Given the description of an element on the screen output the (x, y) to click on. 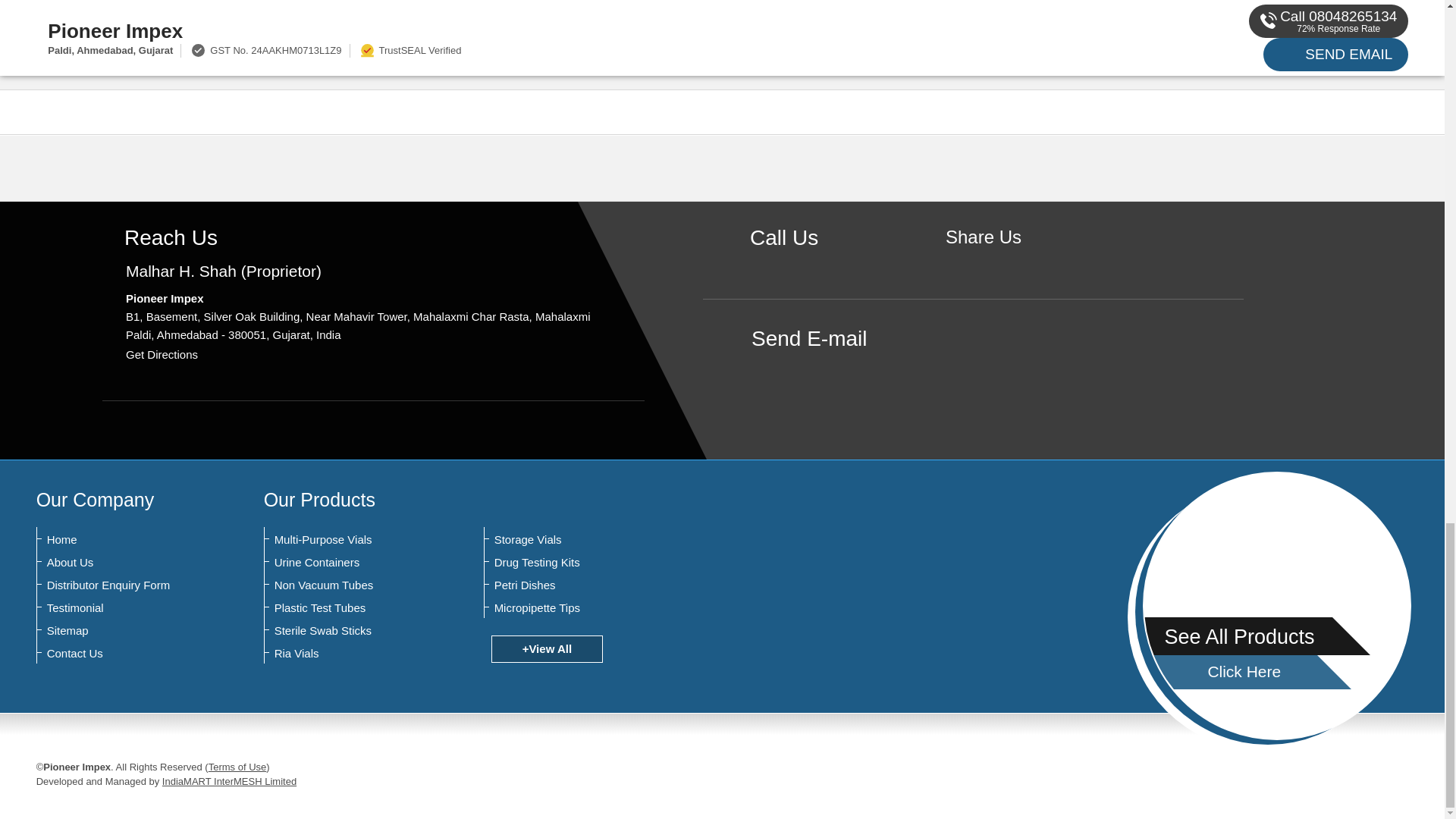
Get Directions (161, 354)
Facebook (983, 262)
